Given the description of an element on the screen output the (x, y) to click on. 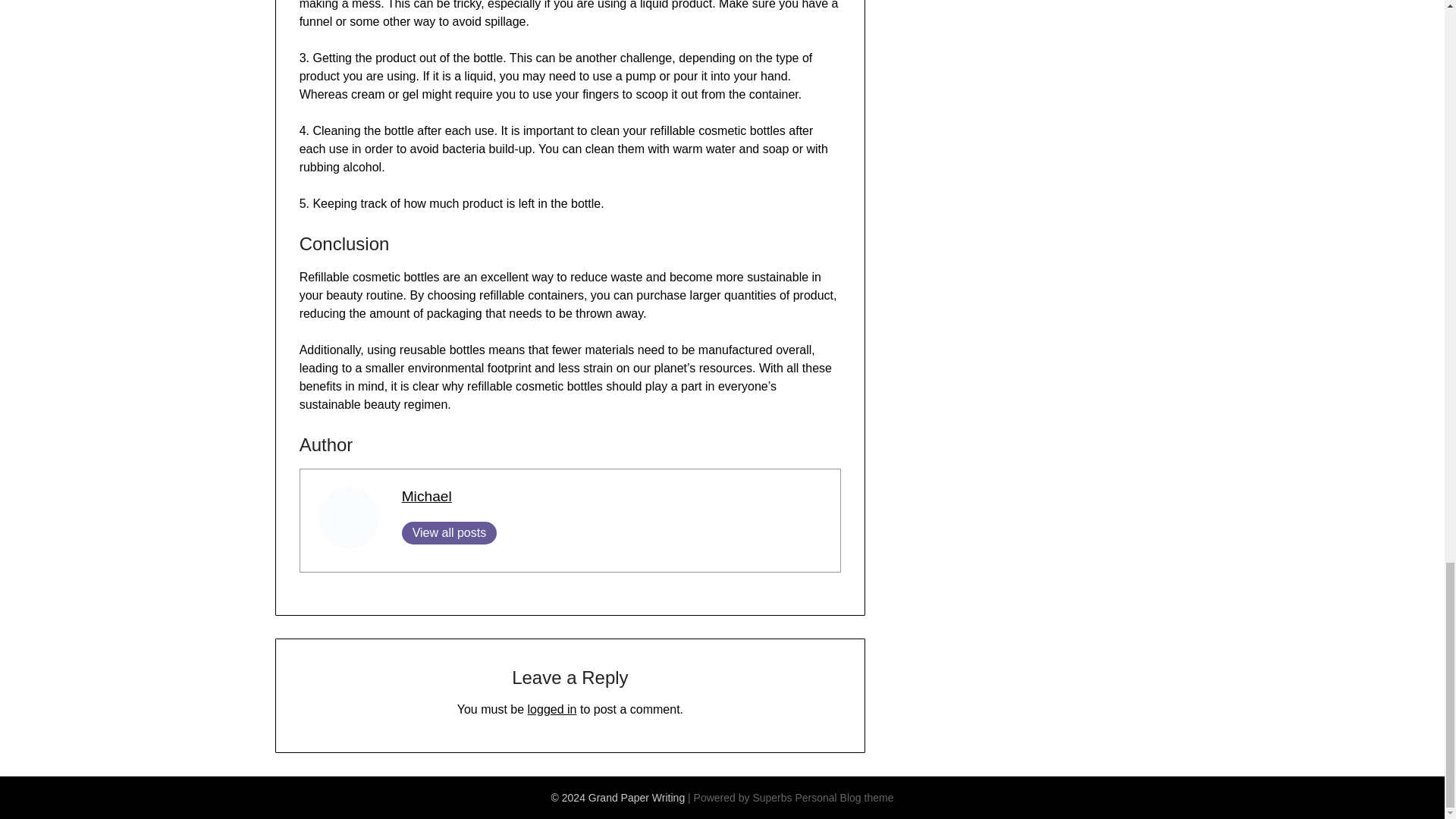
View all posts (449, 532)
logged in (551, 708)
View all posts (449, 532)
Michael (426, 496)
Personal Blog theme (843, 797)
Michael (426, 496)
